Given the description of an element on the screen output the (x, y) to click on. 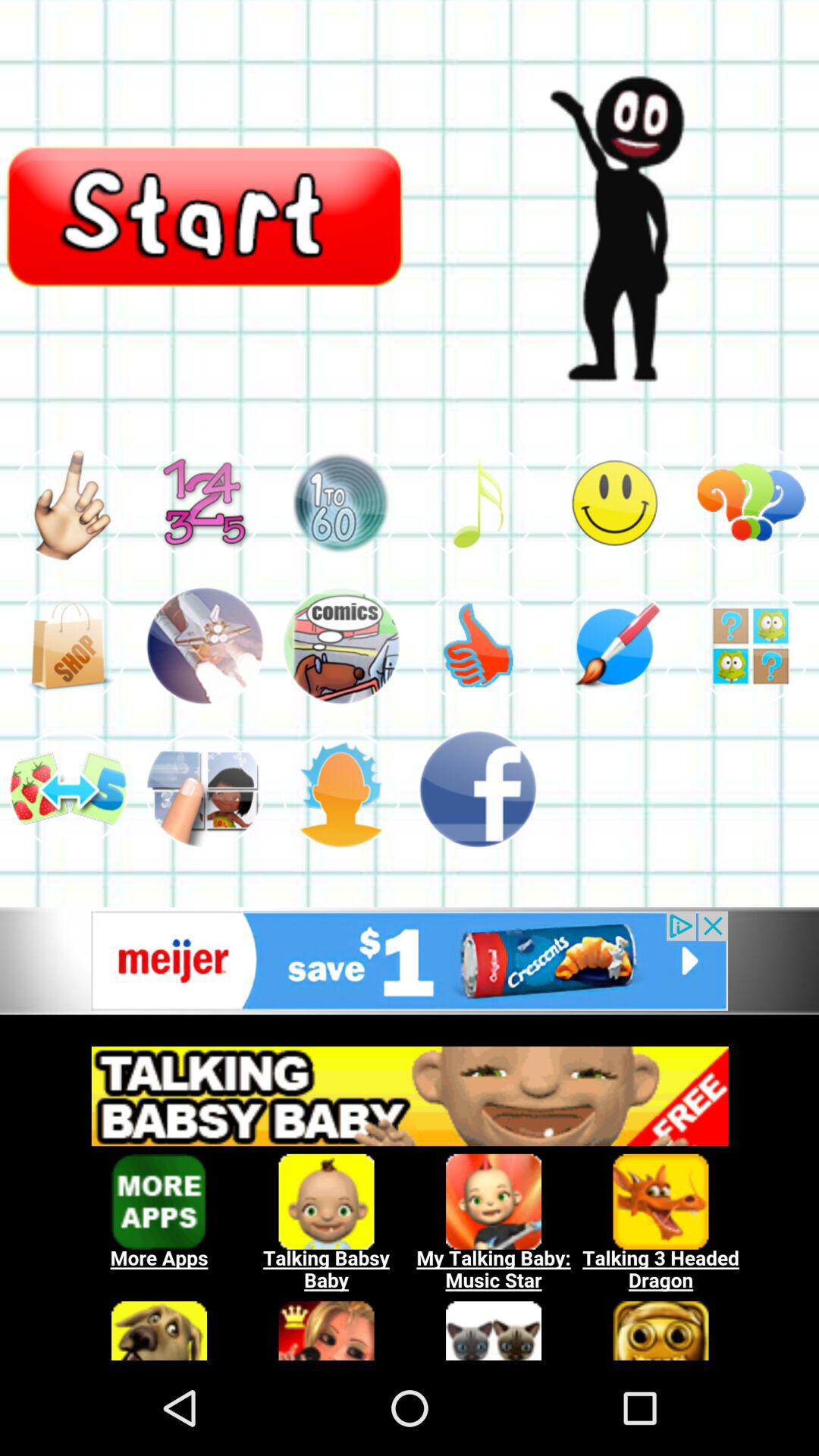
click on smile emoji (614, 502)
select the second row second image (204, 646)
click on fifth option in second row (614, 646)
select the second image in the third row (204, 789)
select a image which is below 1 to 60 image (340, 646)
